Given the description of an element on the screen output the (x, y) to click on. 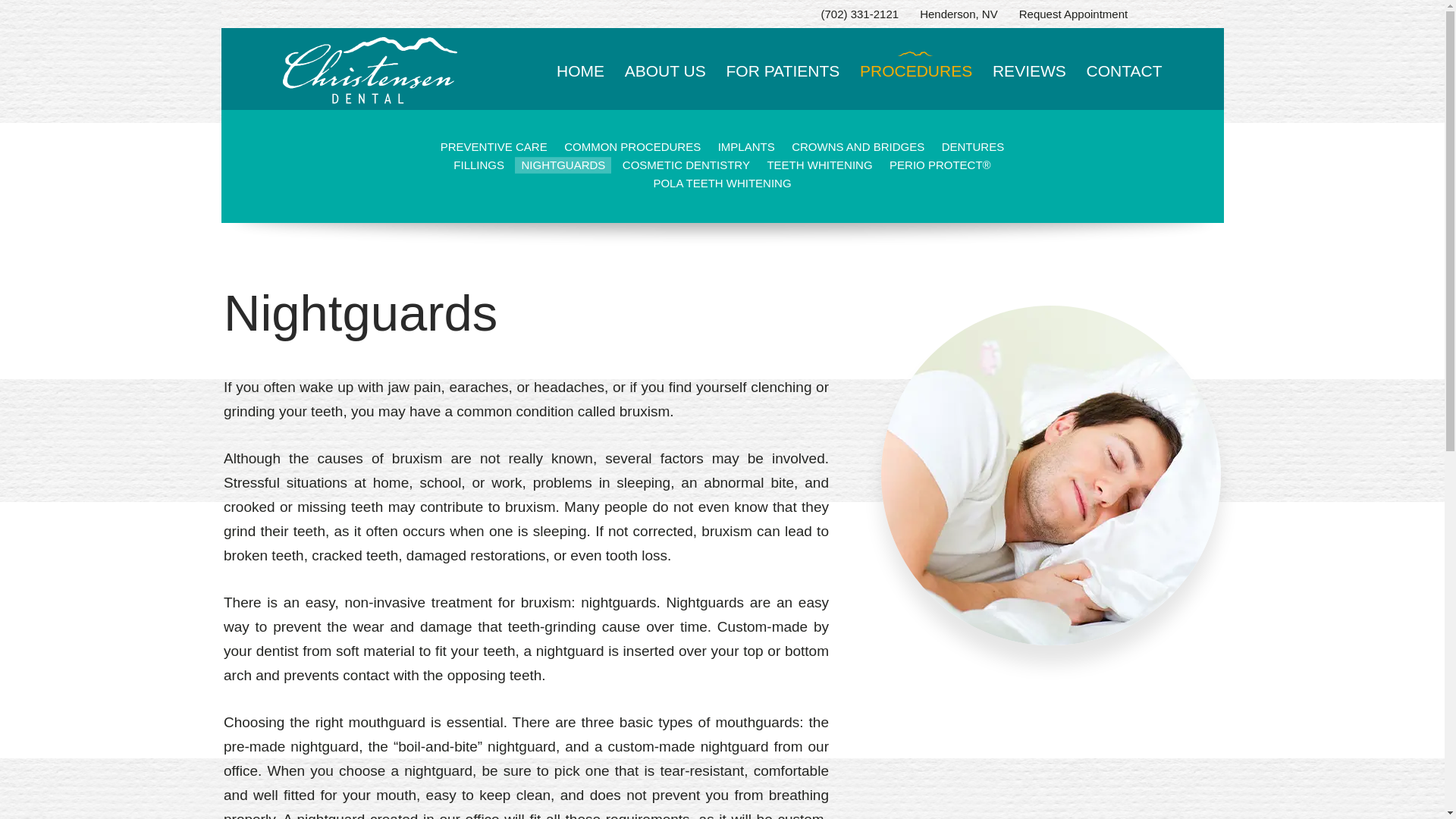
CONTACT (1123, 82)
Request Appointment (1072, 13)
Henderson, NV (958, 13)
ABOUT US (665, 82)
FOR PATIENTS (783, 82)
REVIEWS (1028, 82)
PROCEDURES (916, 82)
